Given the description of an element on the screen output the (x, y) to click on. 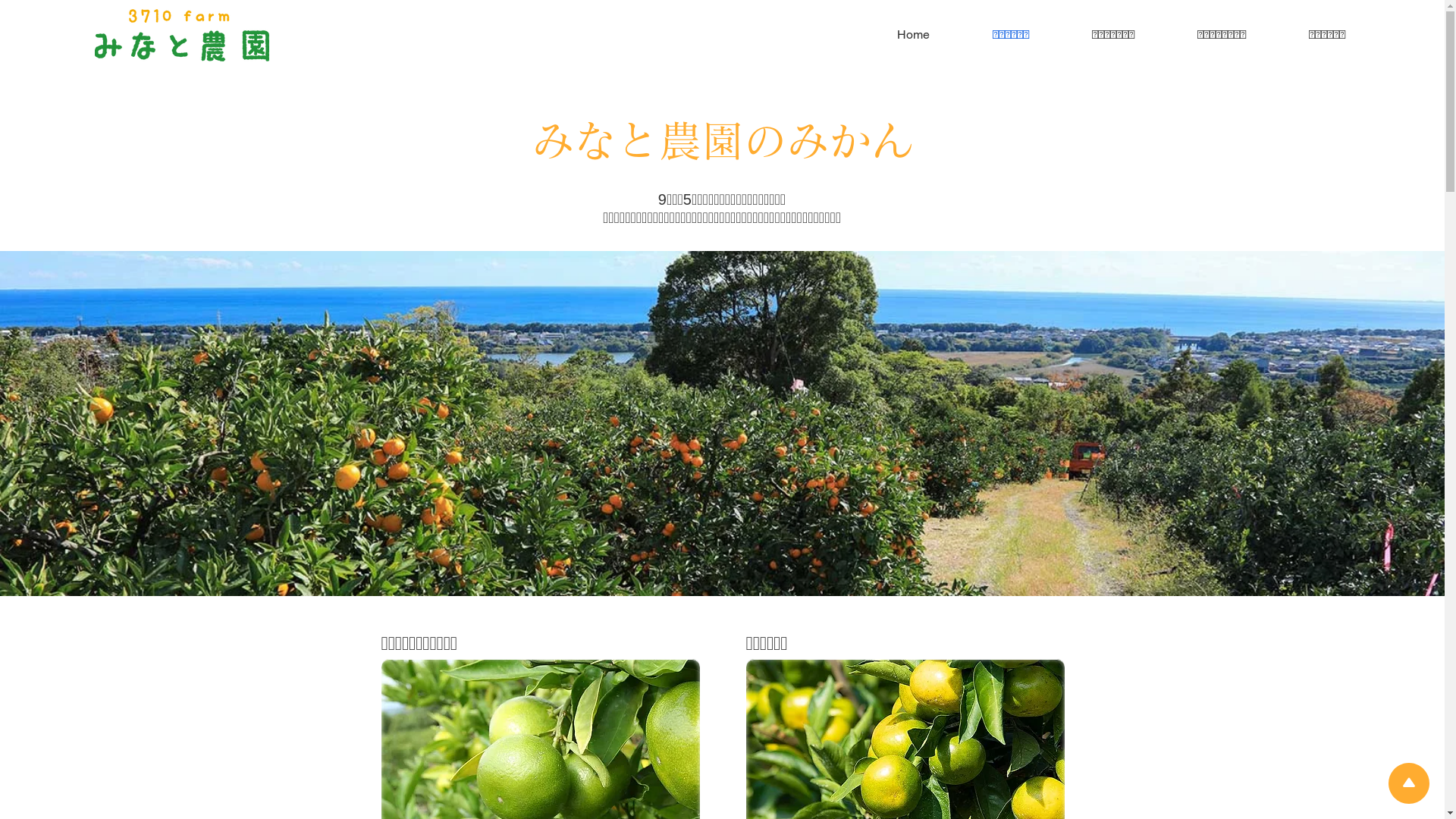
Home Element type: text (892, 34)
